Given the description of an element on the screen output the (x, y) to click on. 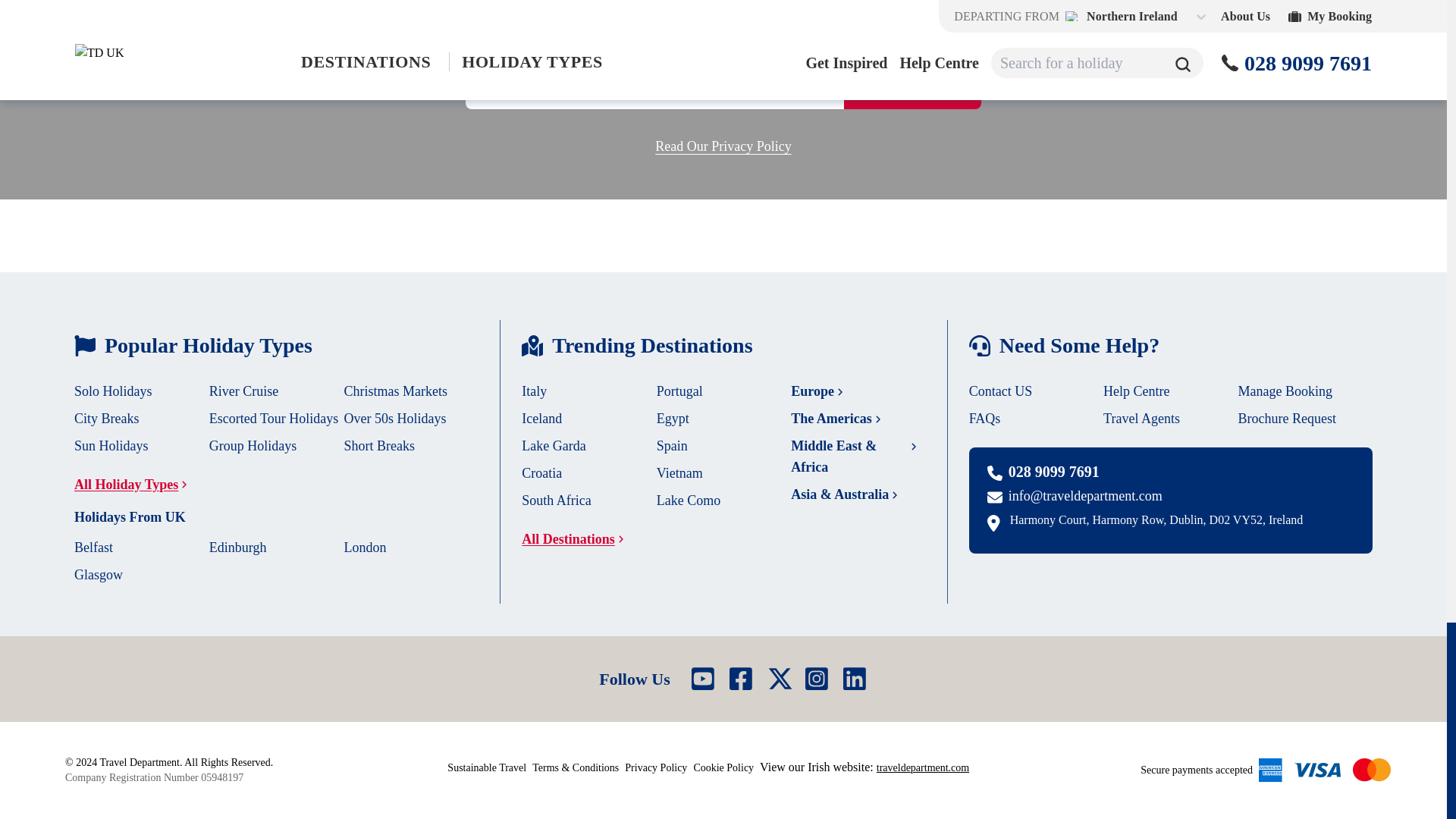
 Short Breaks (378, 445)
 Glasgow (98, 574)
Edinburgh (237, 547)
Group Holidays (253, 445)
 Over 50s Holidays (394, 418)
 Escorted Tour Holidays (273, 418)
Solo Holidays (113, 391)
Christmas Markets (395, 391)
Belfast (93, 547)
All Holiday Types (135, 485)
